Given the description of an element on the screen output the (x, y) to click on. 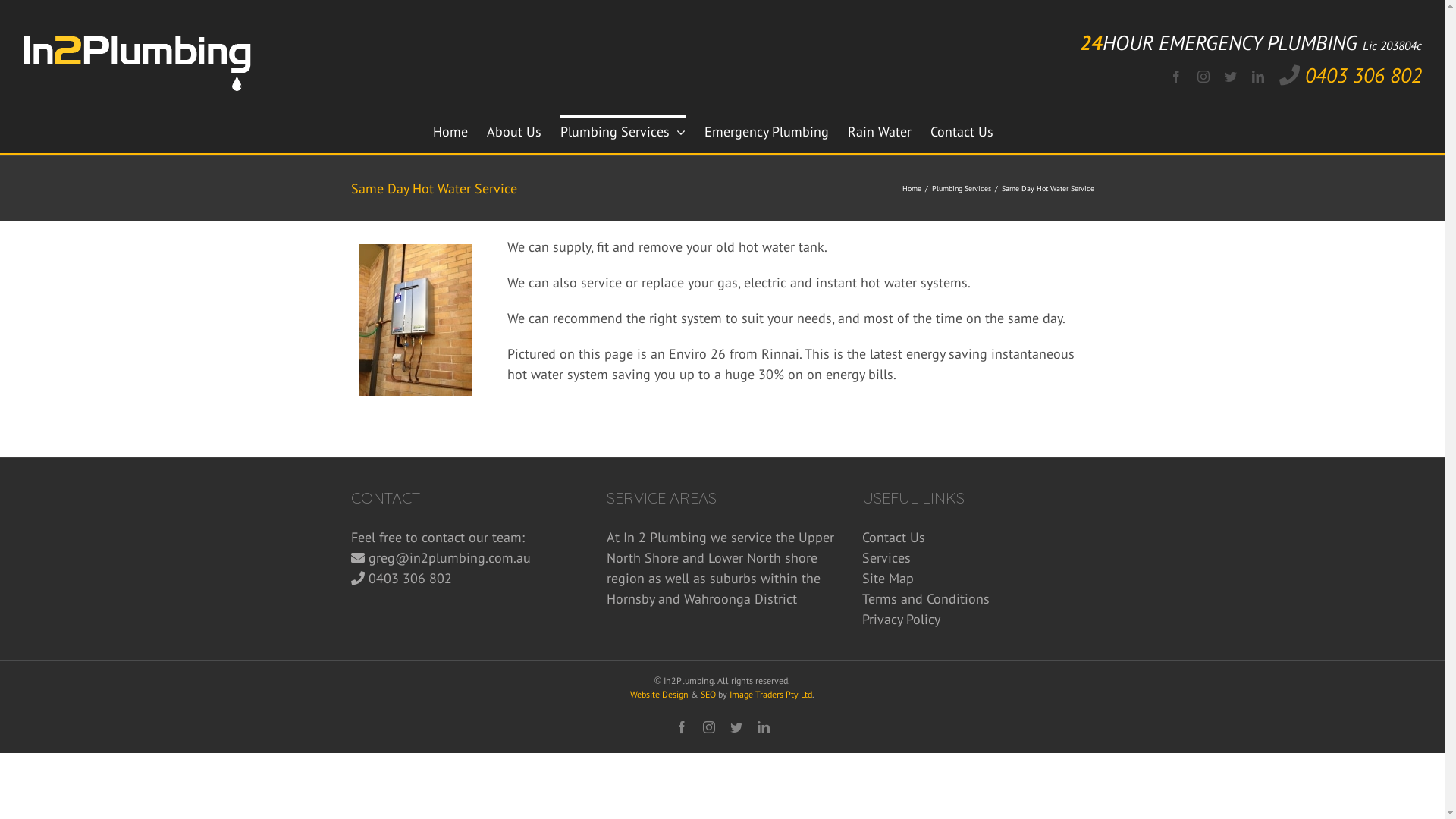
0403 306 802 Element type: text (1363, 74)
facebook Element type: text (680, 727)
Plumbing Services Element type: text (960, 188)
Website Design Element type: text (659, 693)
Facebook Element type: text (1176, 75)
Home Element type: text (911, 188)
Image Traders Pty Ltd Element type: text (770, 693)
About Us Element type: text (513, 130)
Privacy Policy Element type: text (977, 618)
instagram Element type: text (708, 727)
SEO Element type: text (707, 693)
Site Map Element type: text (977, 577)
Emergency Plumbing Element type: text (765, 130)
Instagram Element type: text (1203, 75)
Twitter Element type: text (1230, 75)
Contact Us Element type: text (977, 537)
0403 306 802 Element type: text (409, 577)
Services Element type: text (977, 557)
Contact Us Element type: text (960, 130)
greg@in2plumbing.com.au Element type: text (449, 557)
twitter Element type: text (735, 727)
Home Element type: text (449, 130)
Plumbing Services Element type: text (621, 130)
Terms and Conditions Element type: text (977, 598)
Linkedin Element type: text (1258, 75)
linkedin Element type: text (762, 727)
Rain Water Element type: text (879, 130)
